Given the description of an element on the screen output the (x, y) to click on. 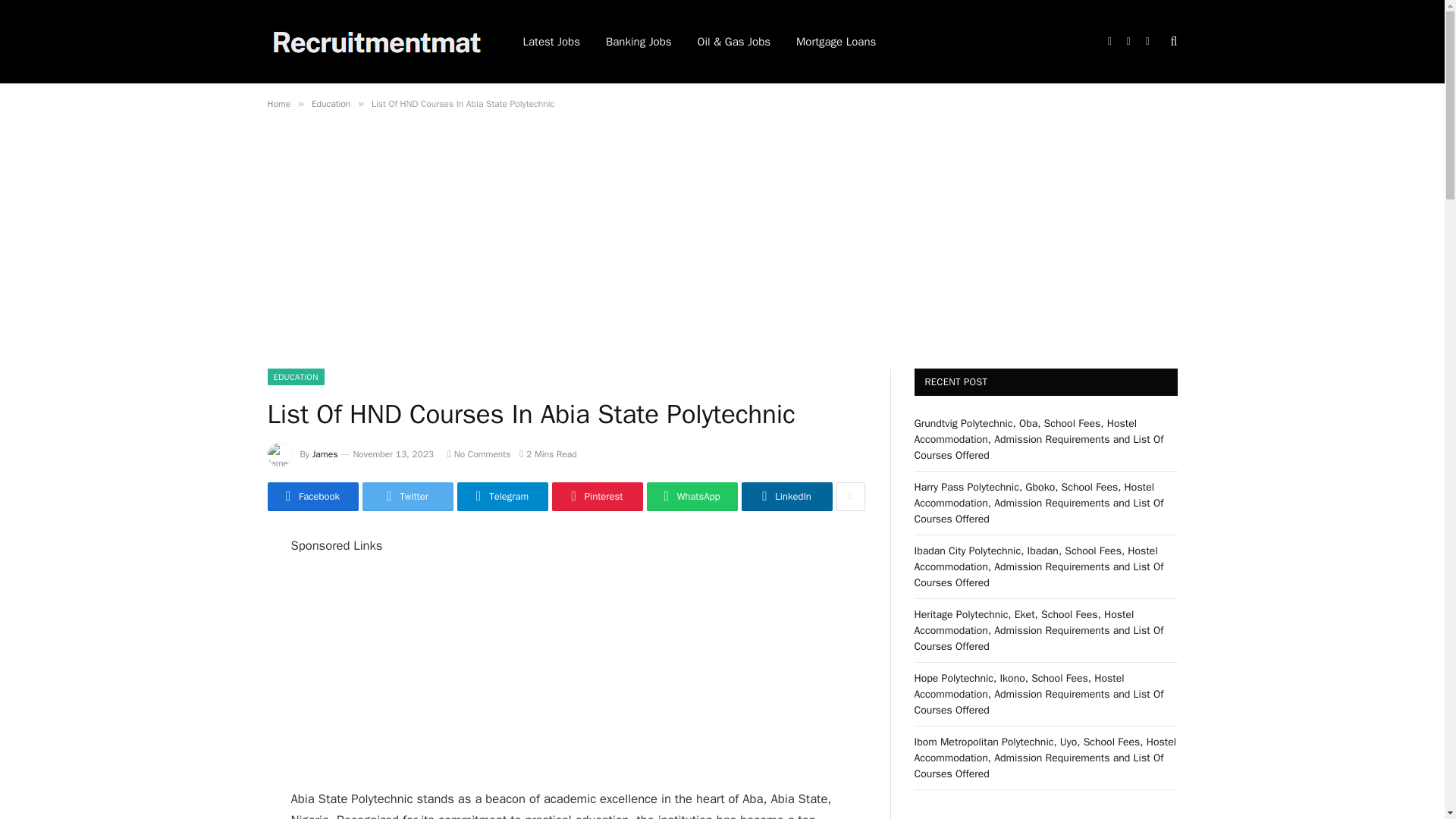
Share on Twitter (407, 496)
Facebook (312, 496)
Share on LinkedIn (786, 496)
Telegram (502, 496)
Latest Jobs (550, 41)
Home (277, 103)
Banking Jobs (638, 41)
LinkedIn (786, 496)
Share on WhatsApp (691, 496)
Share on Pinterest (597, 496)
Posts by James (325, 453)
Show More Social Sharing (849, 496)
WhatsApp (691, 496)
Share on Facebook (312, 496)
